Given the description of an element on the screen output the (x, y) to click on. 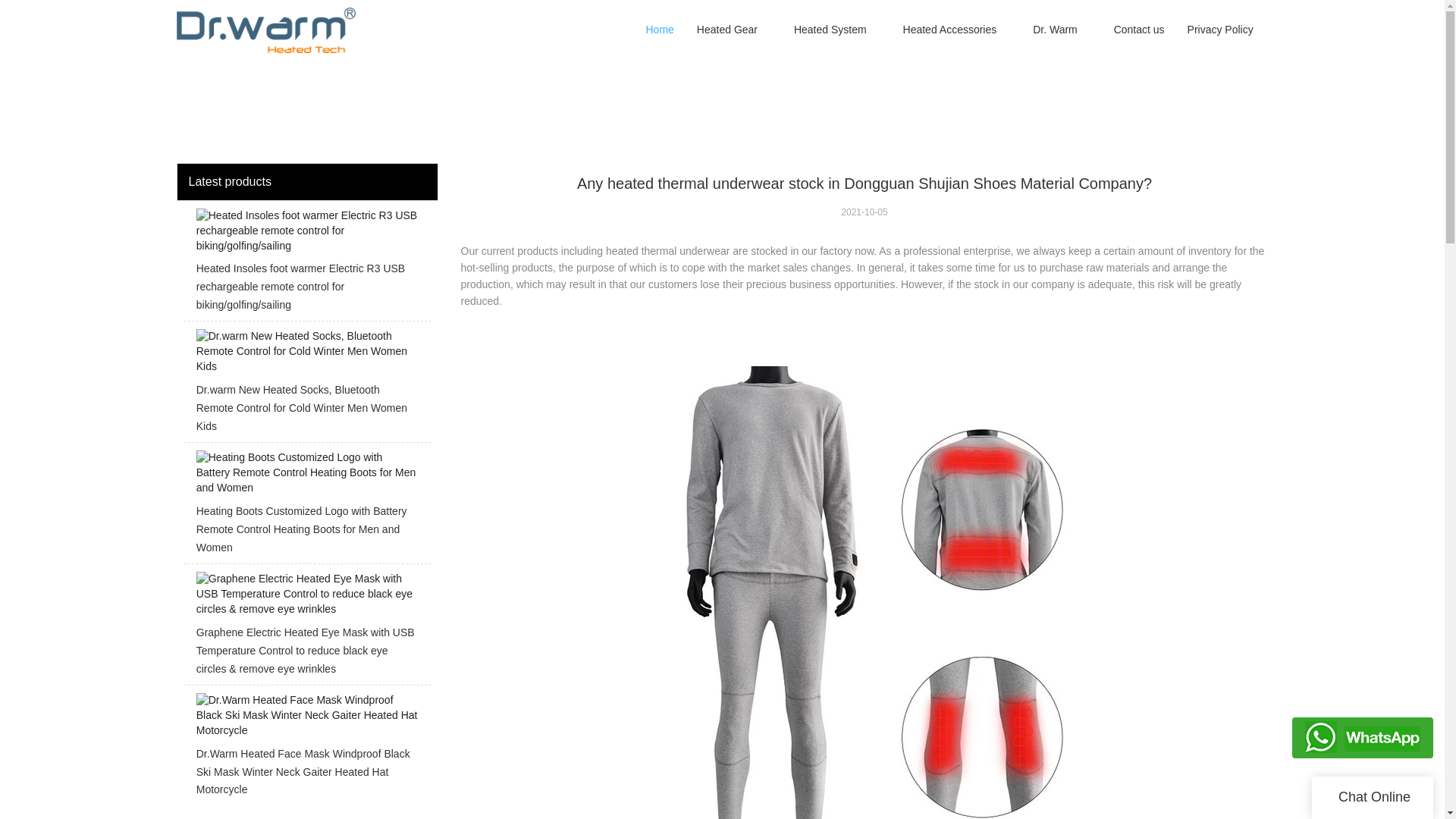
Heated Gear (726, 30)
Heated System (830, 30)
Privacy Policy (1220, 30)
Heated Accessories (950, 30)
Contact us (1139, 30)
Dr. Warm (1055, 30)
Home (658, 30)
